Given the description of an element on the screen output the (x, y) to click on. 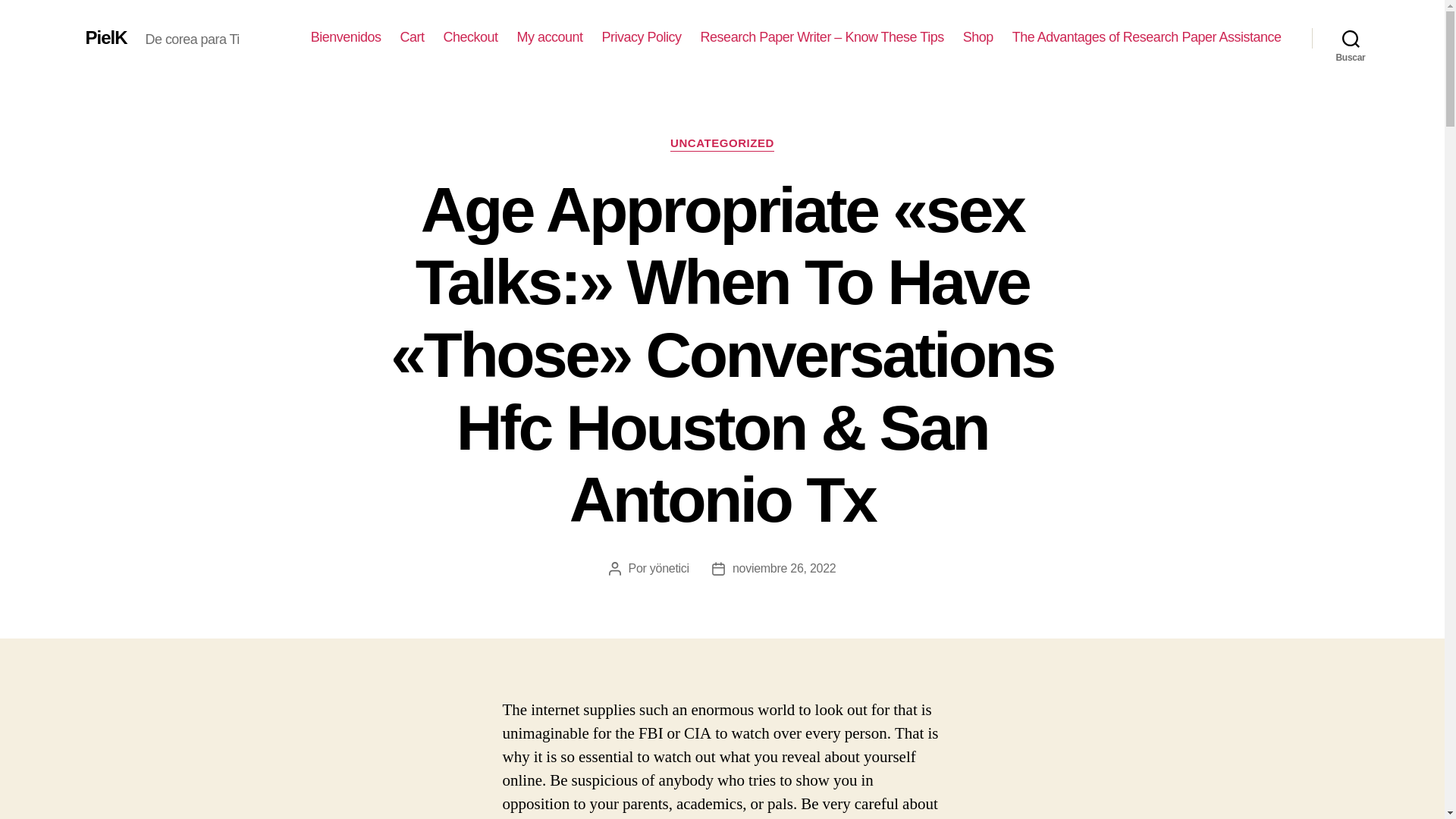
noviembre 26, 2022 (783, 567)
PielK (105, 37)
Cart (410, 37)
Privacy Policy (641, 37)
The Advantages of Research Paper Assistance (1146, 37)
My account (549, 37)
Shop (977, 37)
Checkout (469, 37)
UNCATEGORIZED (721, 143)
Buscar (1350, 37)
Bienvenidos (346, 37)
